Given the description of an element on the screen output the (x, y) to click on. 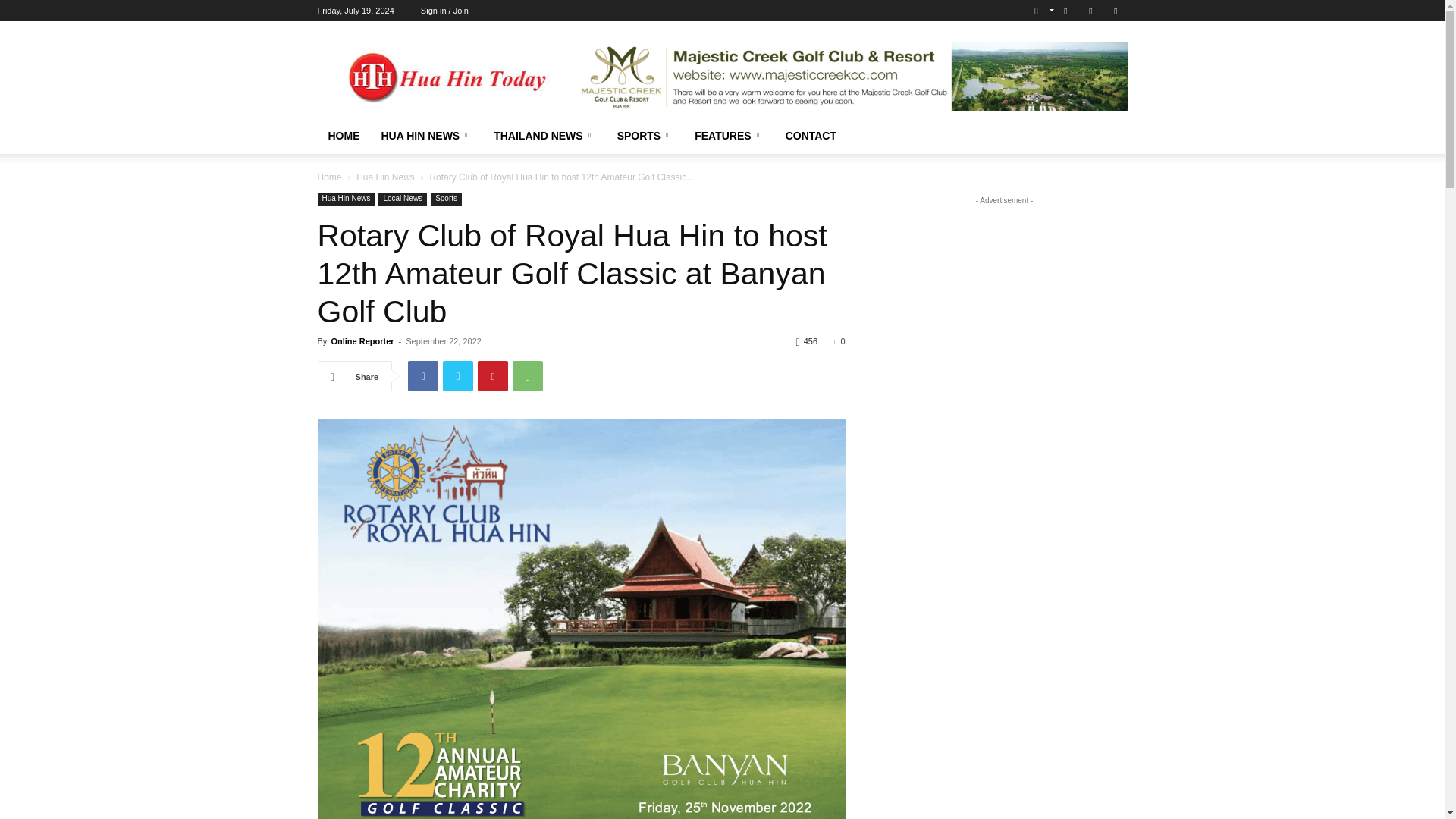
Youtube (1114, 10)
Search (1085, 64)
HOME (343, 135)
HUA HIN NEWS (426, 135)
Facebook (1065, 10)
Twitter (1090, 10)
Hua Hin Today Newspaper (445, 76)
